Given the description of an element on the screen output the (x, y) to click on. 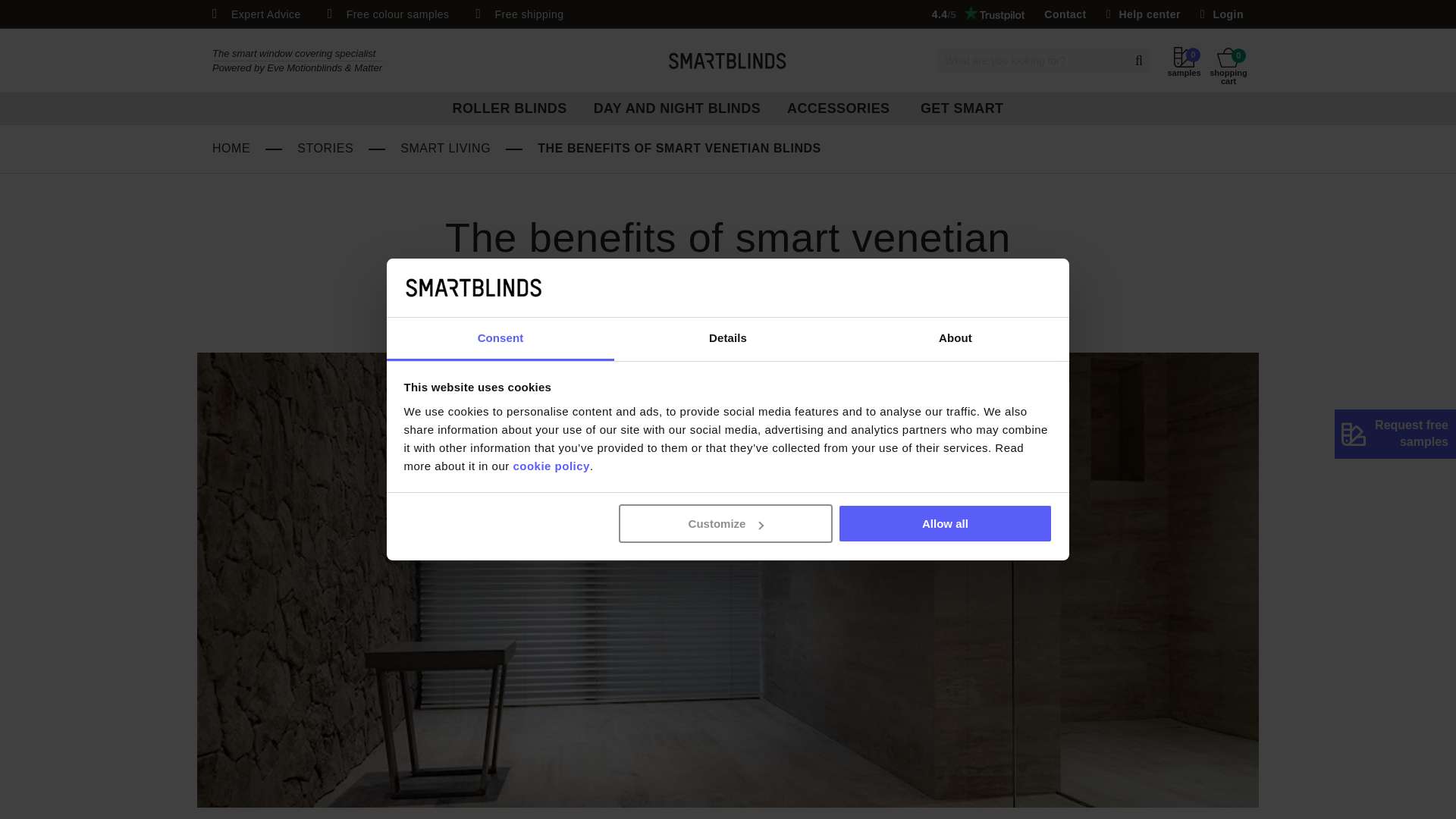
Sample basket (1183, 56)
About (954, 339)
Search (1138, 60)
Details (727, 339)
Consent (500, 339)
cookie policy (550, 465)
